Given the description of an element on the screen output the (x, y) to click on. 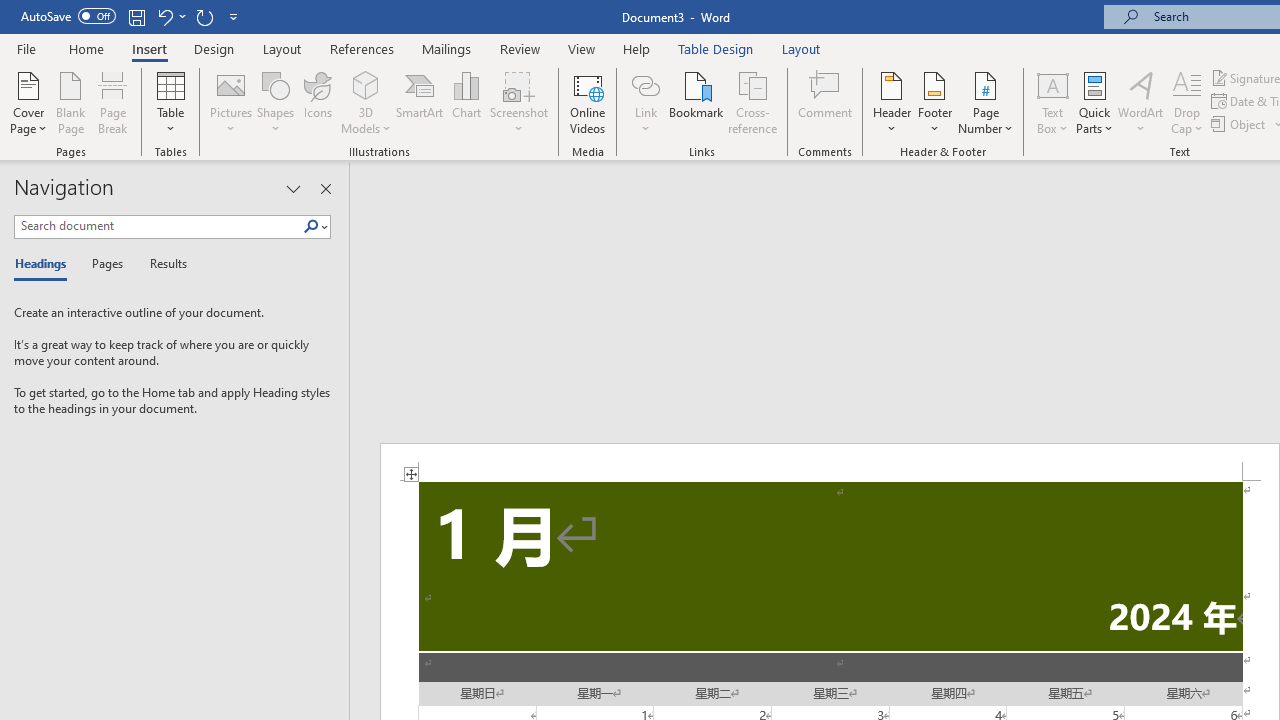
Header (891, 102)
Table (170, 102)
Mailings (447, 48)
Review (520, 48)
Footer (934, 102)
Text Box (1052, 102)
Header -Section 1- (830, 461)
Undo Increase Indent (164, 15)
Link (645, 84)
Link (645, 102)
AutoSave (68, 16)
Cross-reference... (752, 102)
Chart... (466, 102)
